Given the description of an element on the screen output the (x, y) to click on. 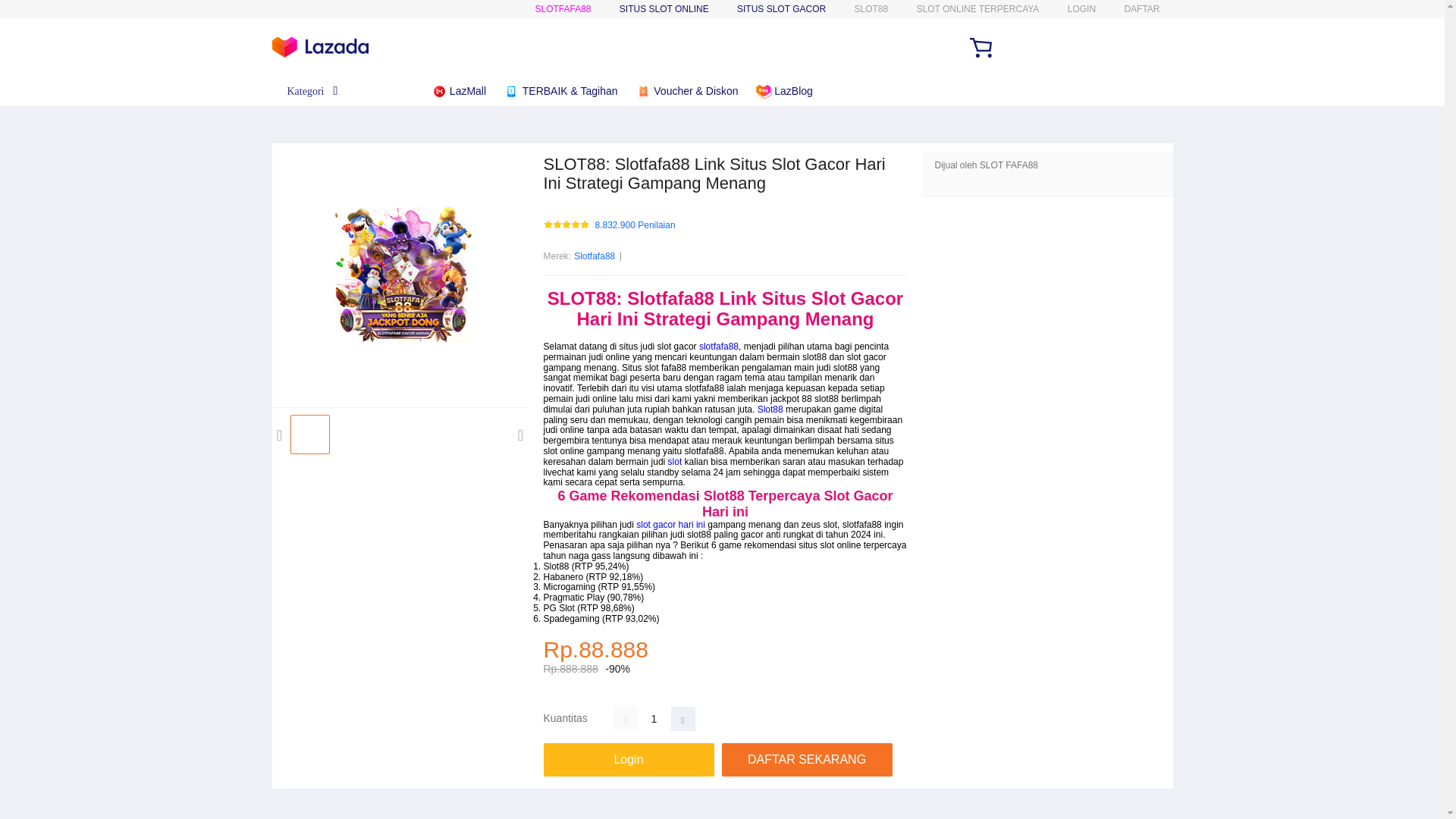
DAFTAR (1141, 9)
SLOTFAFA88 (562, 9)
SITUS SLOT GACOR (780, 9)
LOGIN (1081, 9)
1 (653, 718)
